Given the description of an element on the screen output the (x, y) to click on. 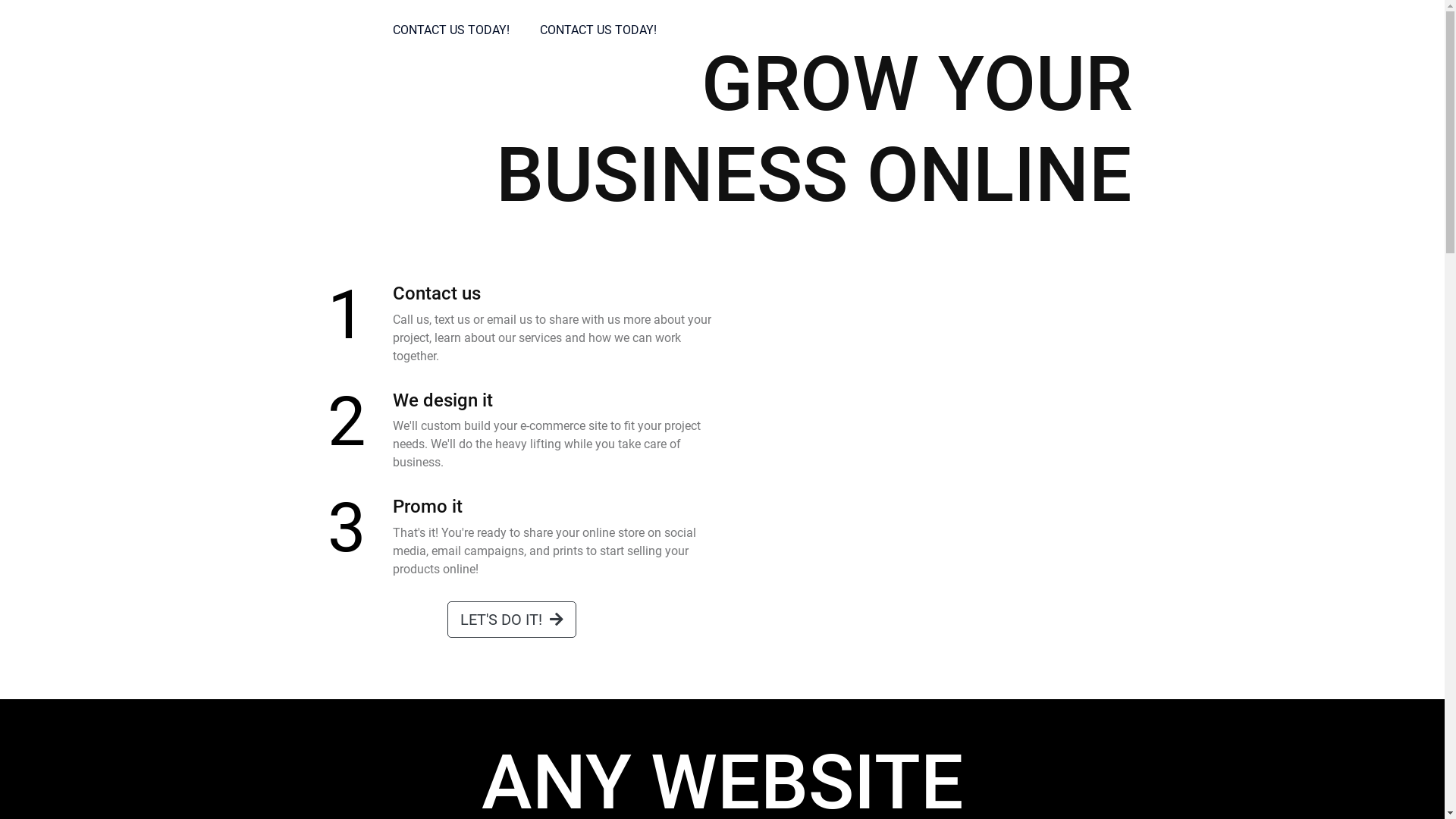
CONTACT US TODAY! Element type: text (597, 30)
CONTACT US TODAY! Element type: text (450, 30)
LET'S DO IT!  Element type: text (511, 619)
